Given the description of an element on the screen output the (x, y) to click on. 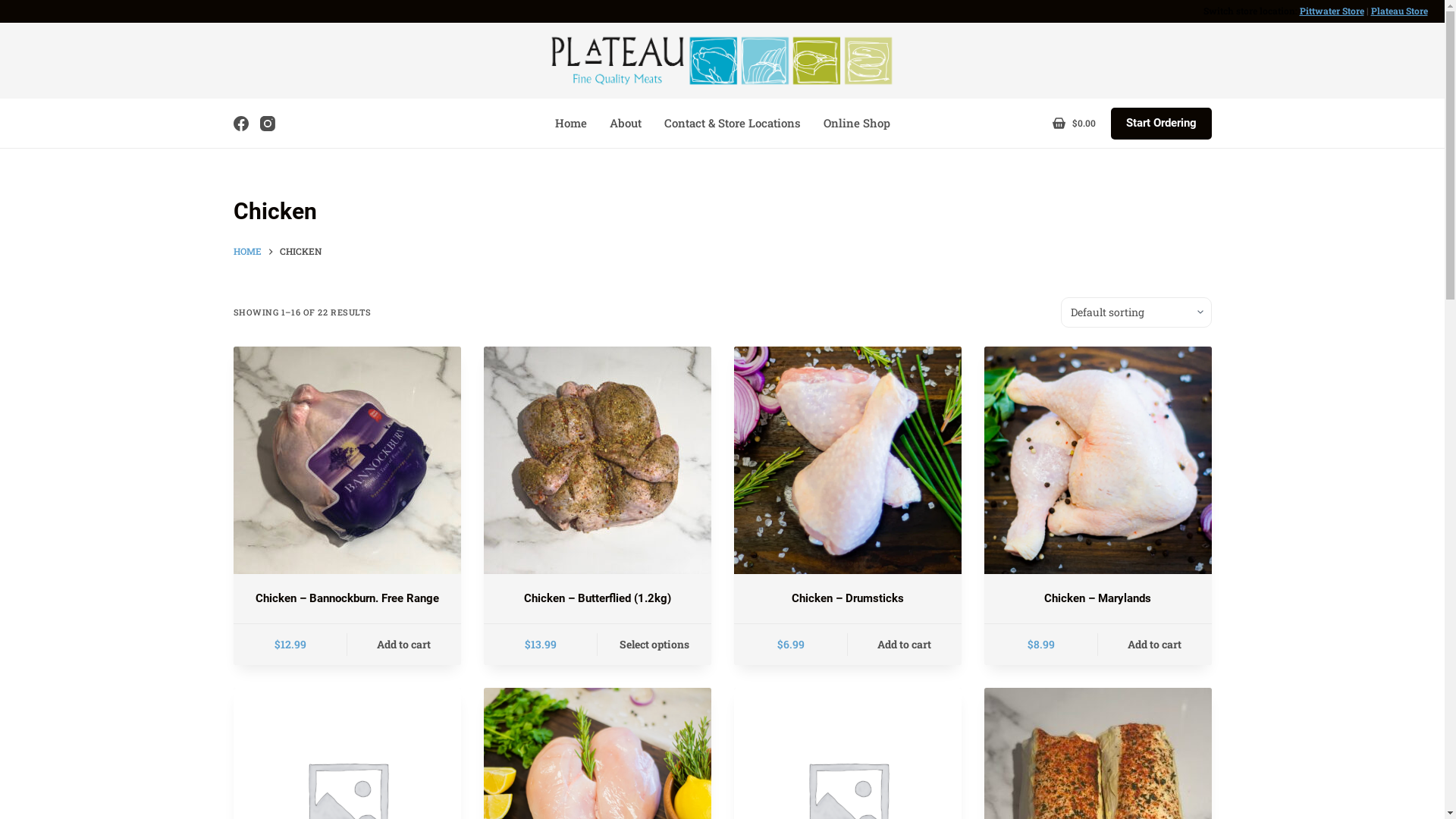
Add to cart Element type: text (1154, 644)
Select options Element type: text (654, 644)
$0.00 Element type: text (1073, 123)
Start Ordering Element type: text (1160, 123)
Contact & Store Locations Element type: text (731, 122)
Skip to content Element type: text (15, 7)
About Element type: text (624, 122)
Pittwater Store Element type: text (1331, 10)
Home Element type: text (569, 122)
Add to cart Element type: text (904, 644)
HOME Element type: text (247, 251)
Add to cart Element type: text (404, 644)
Online Shop Element type: text (855, 122)
Plateau Store Element type: text (1399, 10)
